Given the description of an element on the screen output the (x, y) to click on. 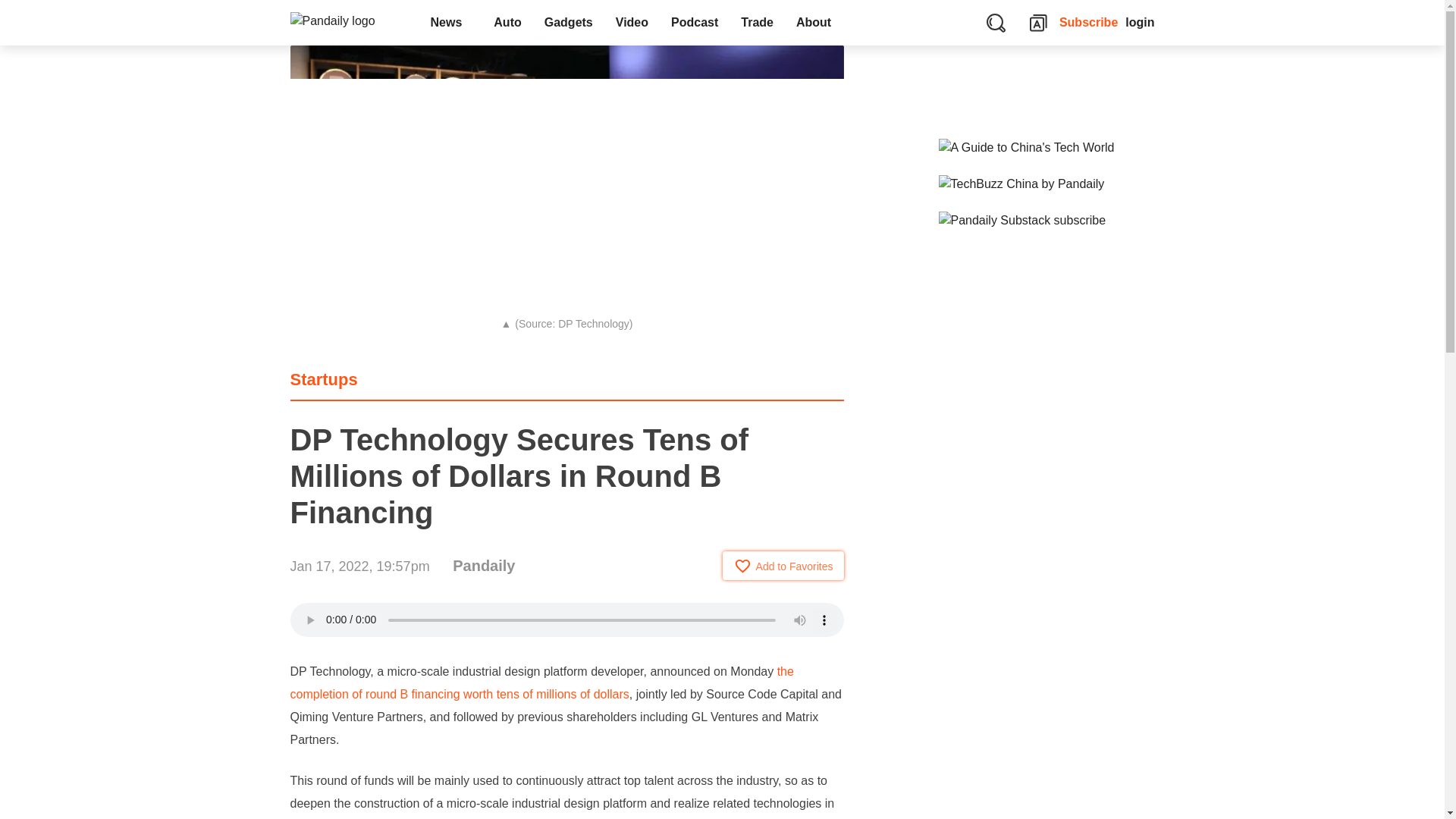
Startups (322, 379)
Gadgets (568, 22)
login (1139, 22)
Trade (756, 22)
Add to Favorites (783, 565)
About (817, 22)
News (450, 22)
Auto (506, 22)
Video (631, 22)
